Given the description of an element on the screen output the (x, y) to click on. 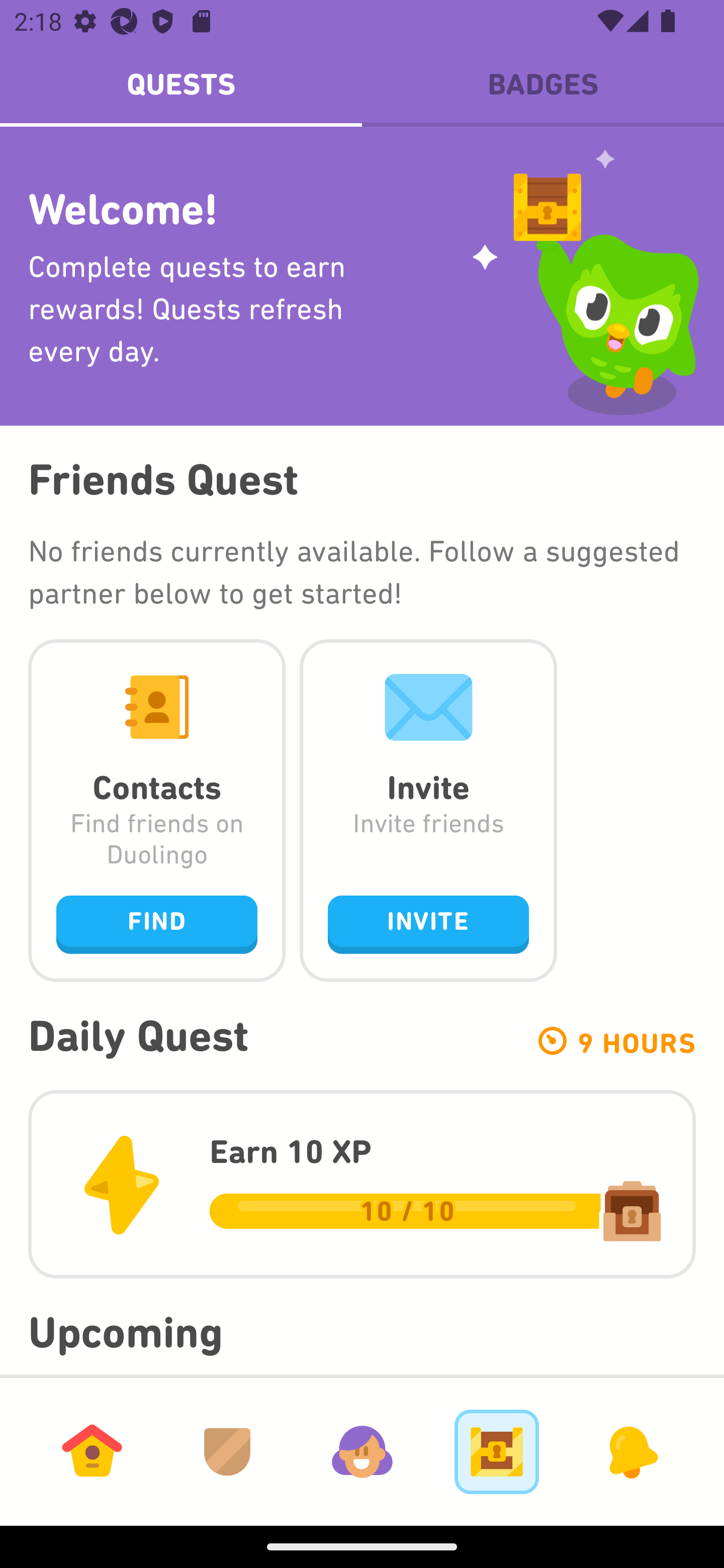
BADGES (543, 84)
FIND (156, 924)
INVITE (428, 924)
Learn Tab (91, 1451)
Leagues Tab (227, 1451)
Profile Tab (361, 1451)
Goals Tab (496, 1451)
News Tab (631, 1451)
